Given the description of an element on the screen output the (x, y) to click on. 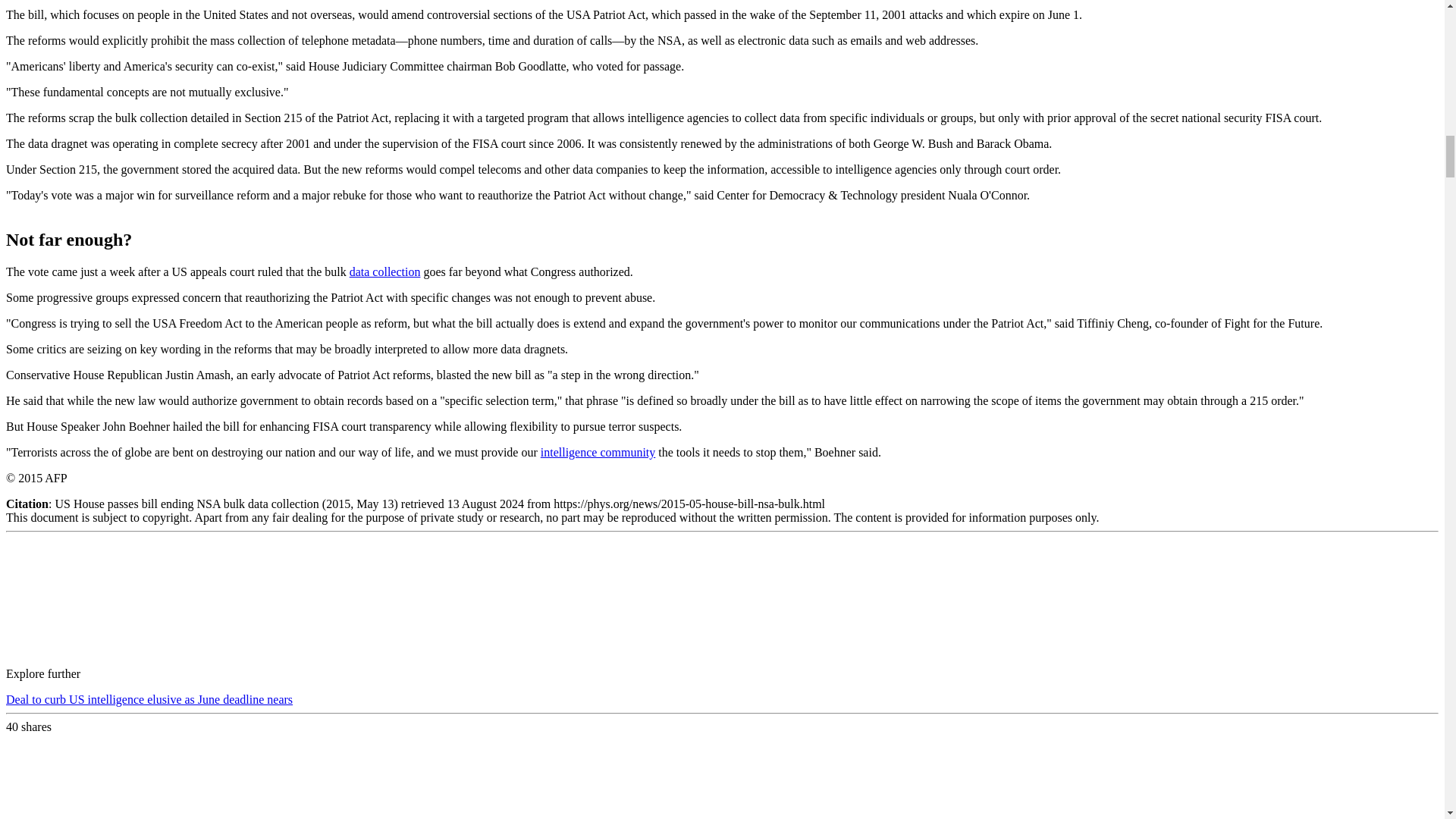
Deal to curb US intelligence elusive as June deadline nears (148, 698)
intelligence community (598, 451)
data collection (384, 271)
